Given the description of an element on the screen output the (x, y) to click on. 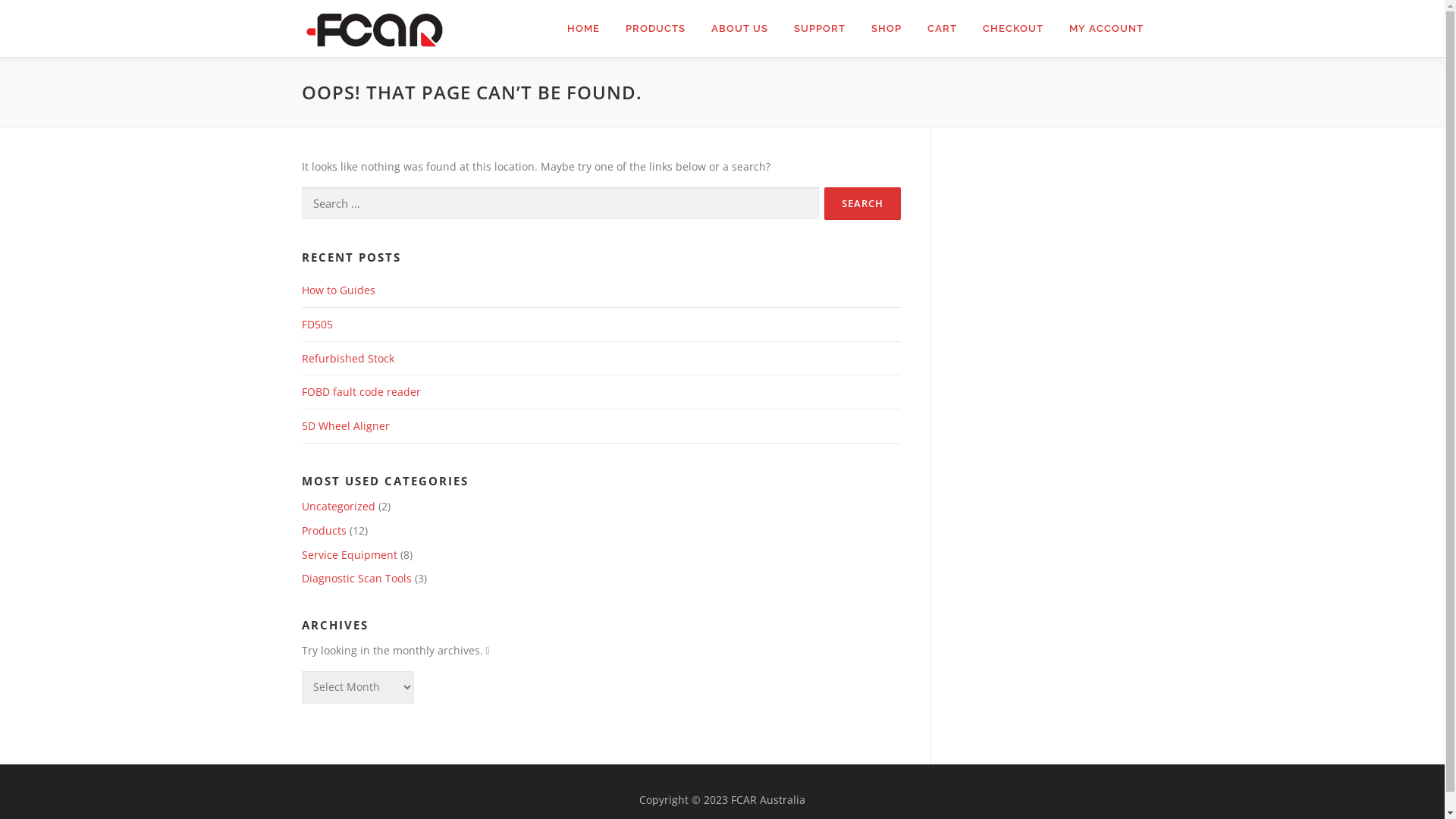
Products Element type: text (323, 530)
How to Guides Element type: text (338, 289)
Search Element type: text (861, 203)
SHOP Element type: text (886, 28)
FD505 Element type: text (316, 323)
5D Wheel Aligner Element type: text (345, 425)
CART Element type: text (941, 28)
MY ACCOUNT Element type: text (1098, 28)
Service Equipment Element type: text (349, 554)
PRODUCTS Element type: text (655, 28)
SUPPORT Element type: text (819, 28)
Uncategorized Element type: text (338, 505)
ABOUT US Element type: text (738, 28)
Diagnostic Scan Tools Element type: text (356, 578)
Refurbished Stock Element type: text (347, 358)
FOBD fault code reader Element type: text (360, 391)
HOME Element type: text (582, 28)
CHECKOUT Element type: text (1012, 28)
